Given the description of an element on the screen output the (x, y) to click on. 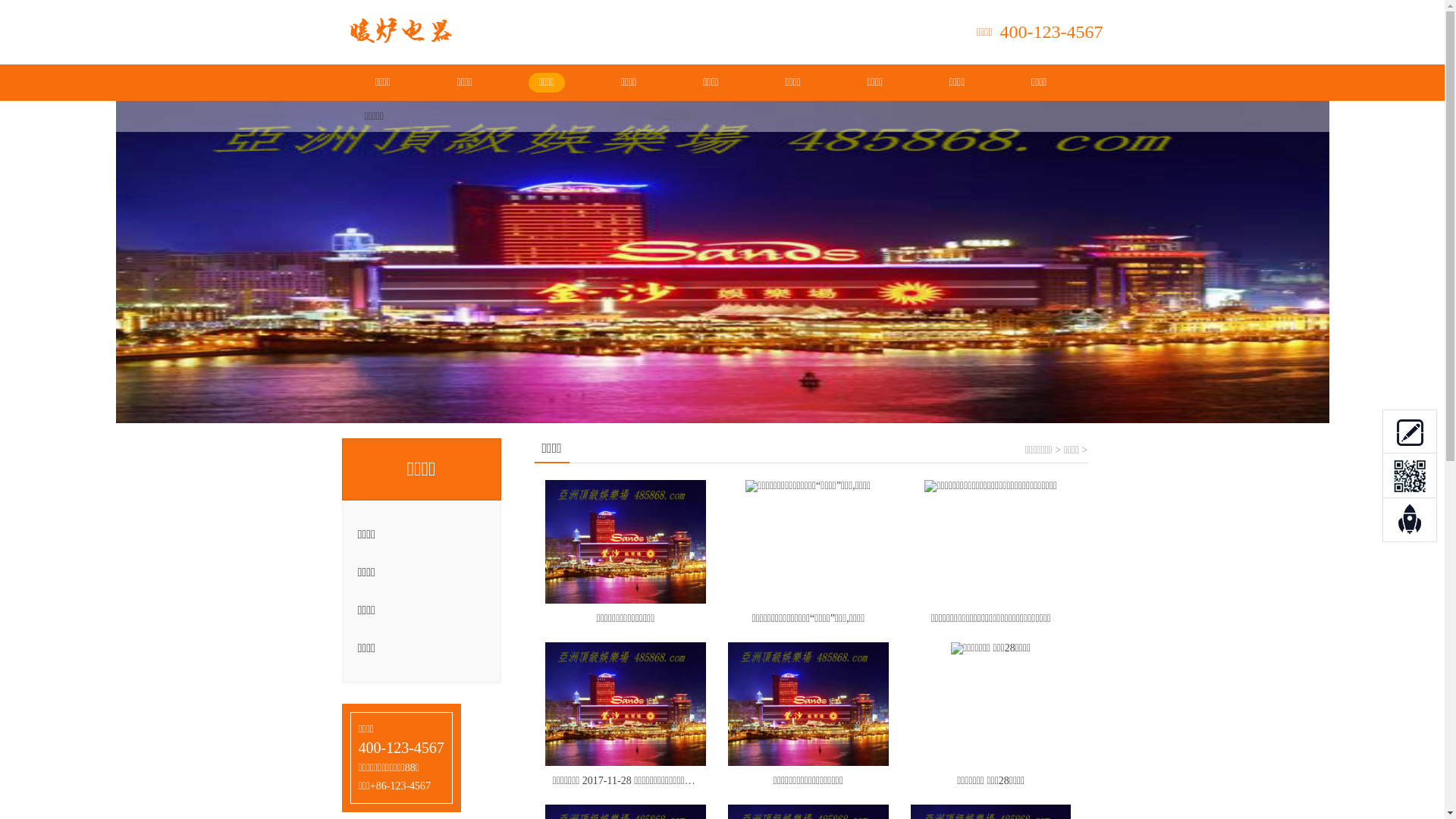
0 Element type: text (1409, 430)
